Given the description of an element on the screen output the (x, y) to click on. 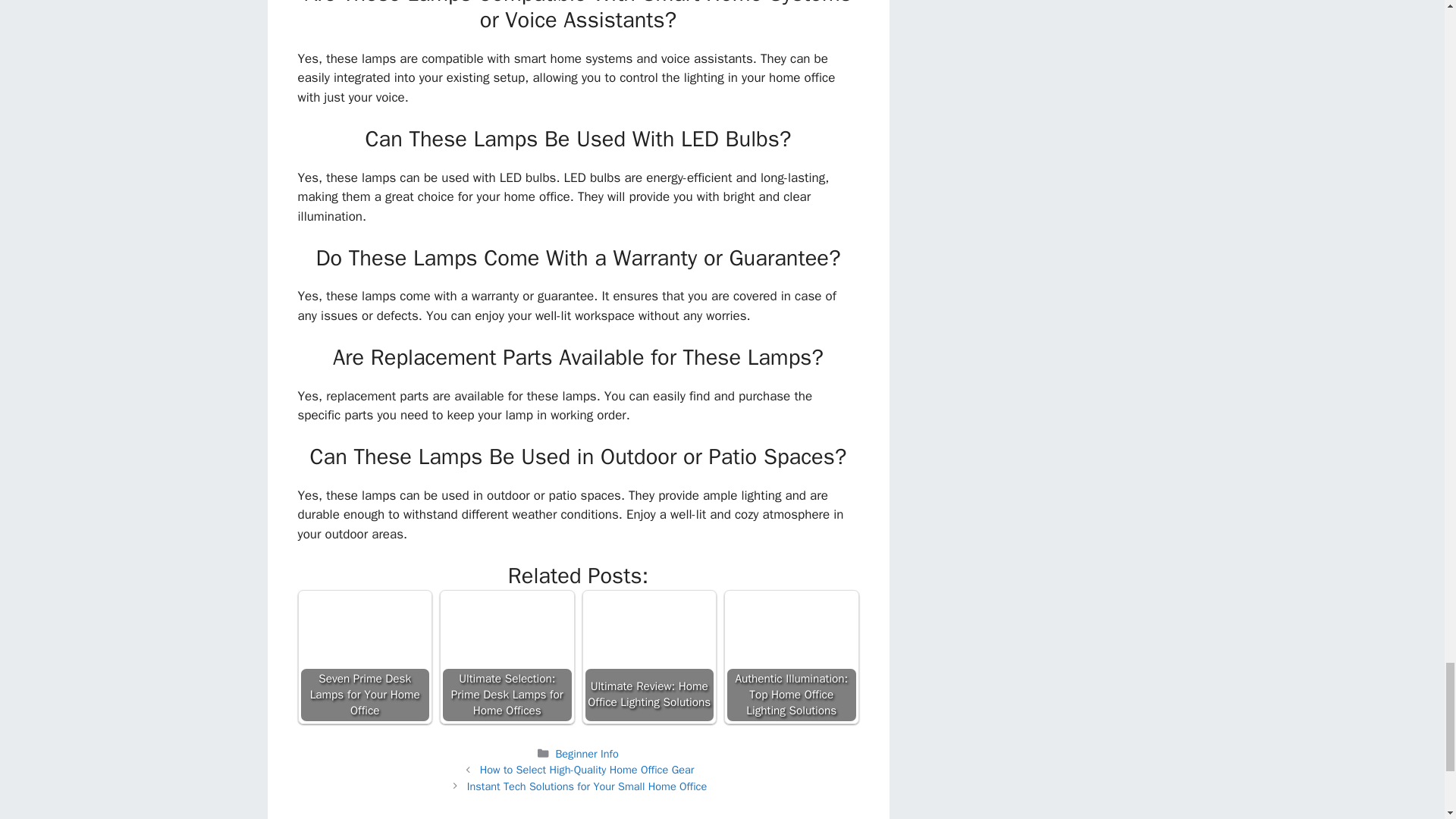
Ultimate Selection: Prime Desk Lamps for Home Offices (507, 656)
Seven Prime Desk Lamps for Your Home Office (365, 656)
Ultimate Review: Home Office Lighting Solutions (649, 656)
Instant Tech Solutions for Your Small Home Office (587, 786)
Authentic Illumination: Top Home Office Lighting Solutions (792, 656)
How to Select High-Quality Home Office Gear (587, 769)
Beginner Info (585, 753)
